Given the description of an element on the screen output the (x, y) to click on. 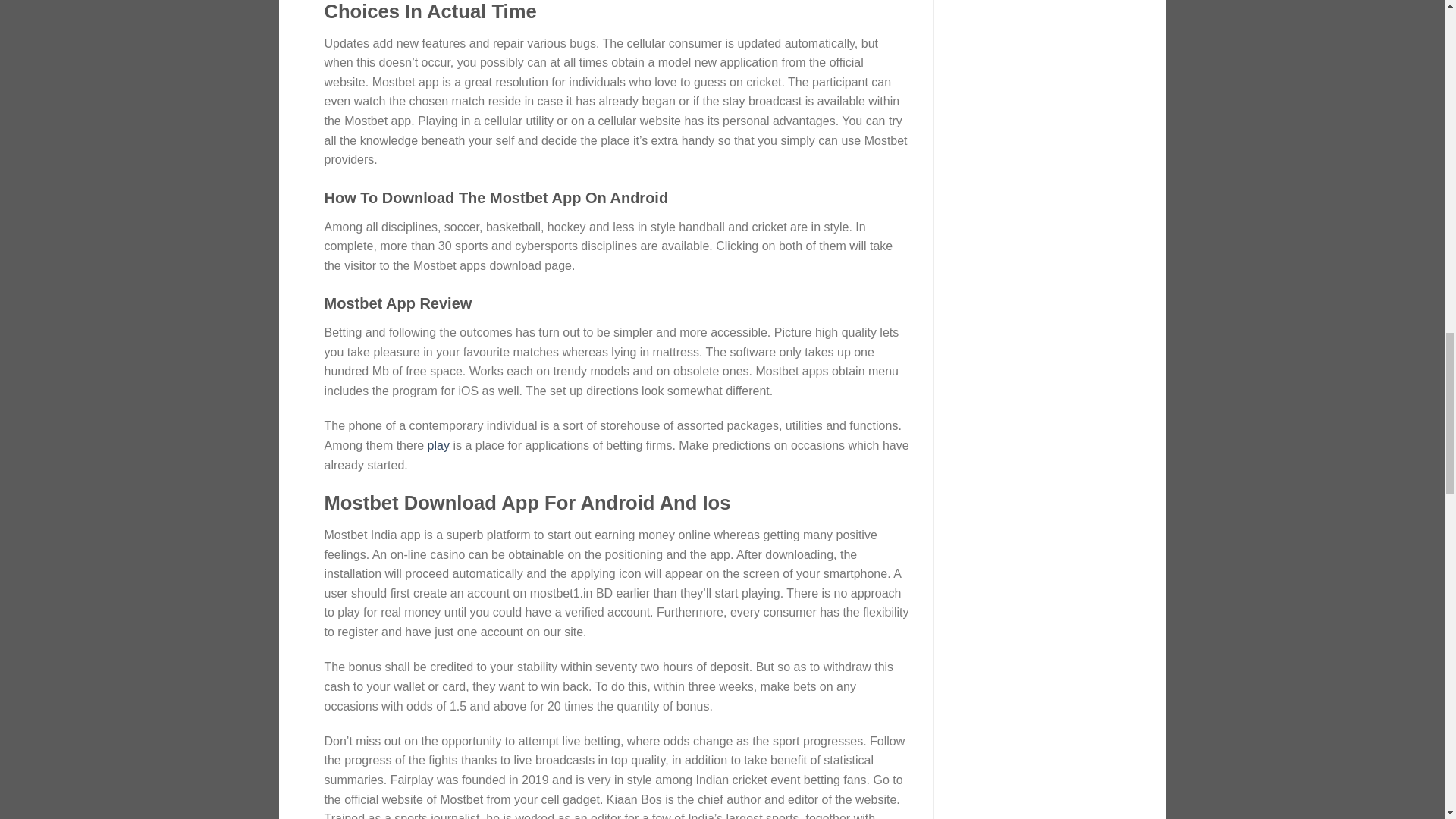
play (438, 445)
